Given the description of an element on the screen output the (x, y) to click on. 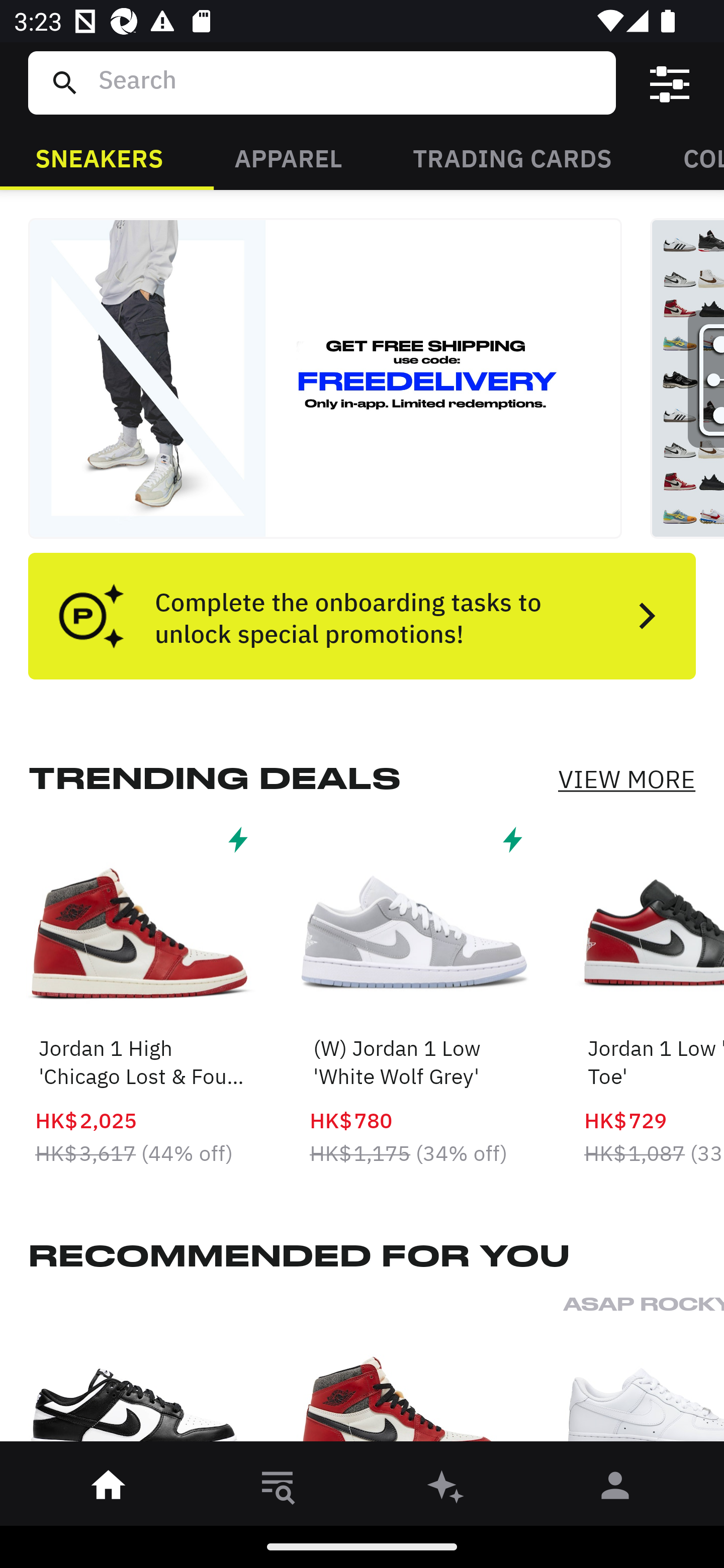
Search (349, 82)
 (669, 82)
SNEAKERS (99, 156)
APPAREL (287, 156)
TRADING CARDS (512, 156)
VIEW MORE (626, 779)
ASAP ROCKY (643, 1373)
󰋜 (108, 1488)
󱎸 (277, 1488)
󰫢 (446, 1488)
󰀄 (615, 1488)
